Given the description of an element on the screen output the (x, y) to click on. 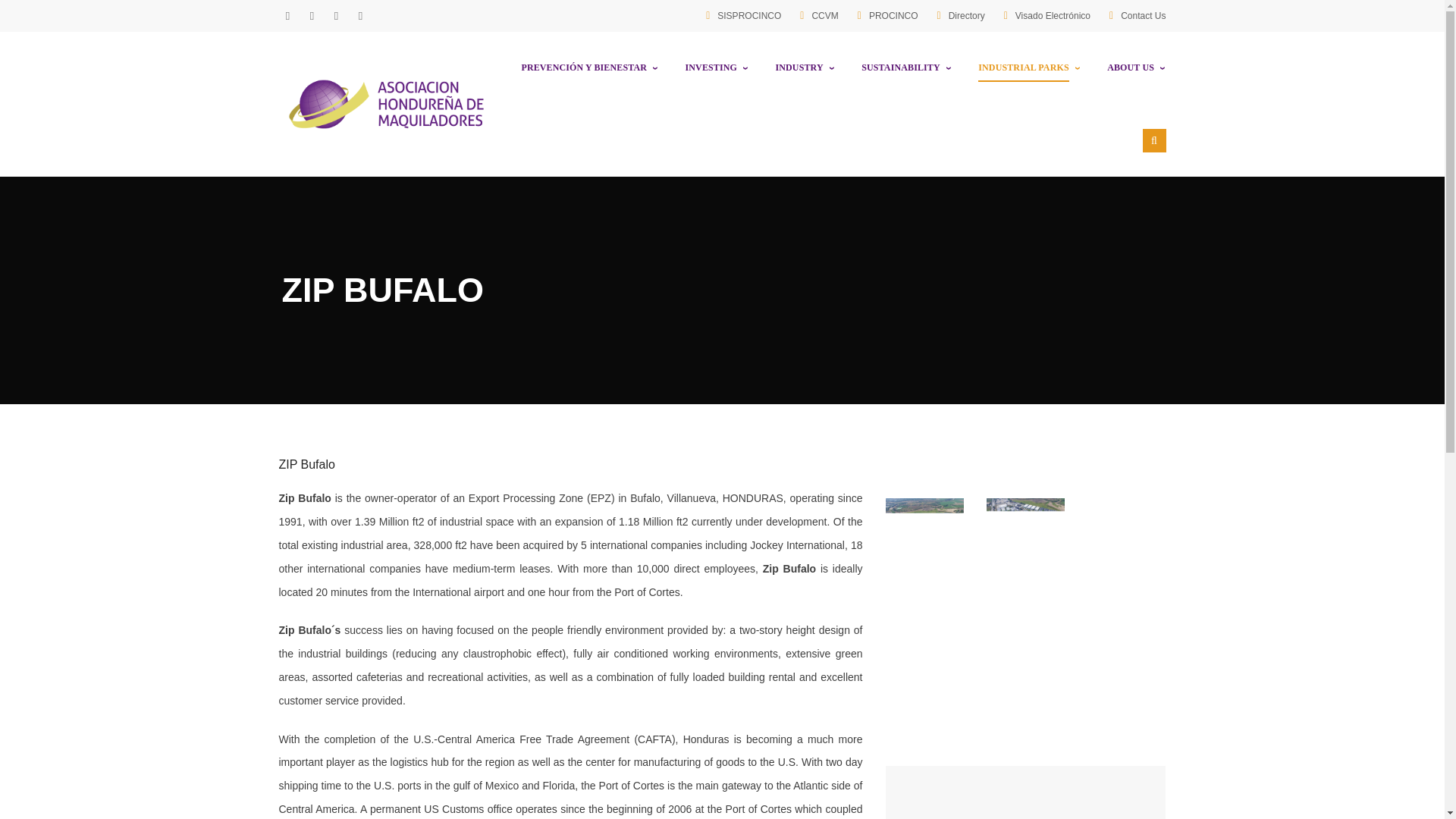
SISPROCINCO (748, 15)
Contact Us (1143, 15)
PROCINCO (893, 15)
CCVM (824, 15)
Directory (967, 15)
